Given the description of an element on the screen output the (x, y) to click on. 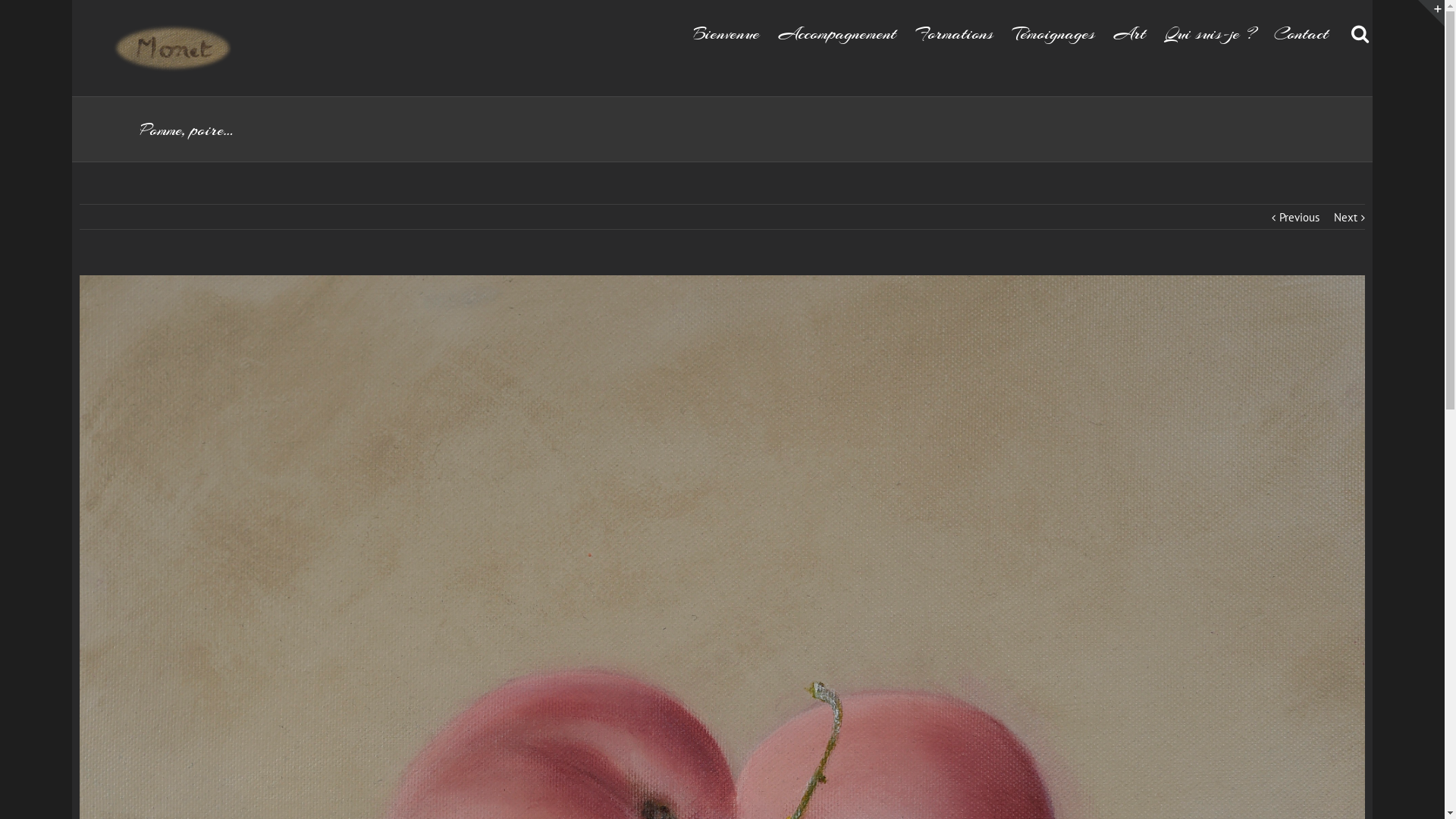
Accompagnement Element type: text (837, 32)
Formations Element type: text (954, 32)
Previous Element type: text (1299, 217)
Contact Element type: text (1301, 32)
Art Element type: text (1129, 32)
Bienvenue Element type: text (726, 32)
Next Element type: text (1345, 217)
Qui suis-je ? Element type: text (1209, 32)
